Given the description of an element on the screen output the (x, y) to click on. 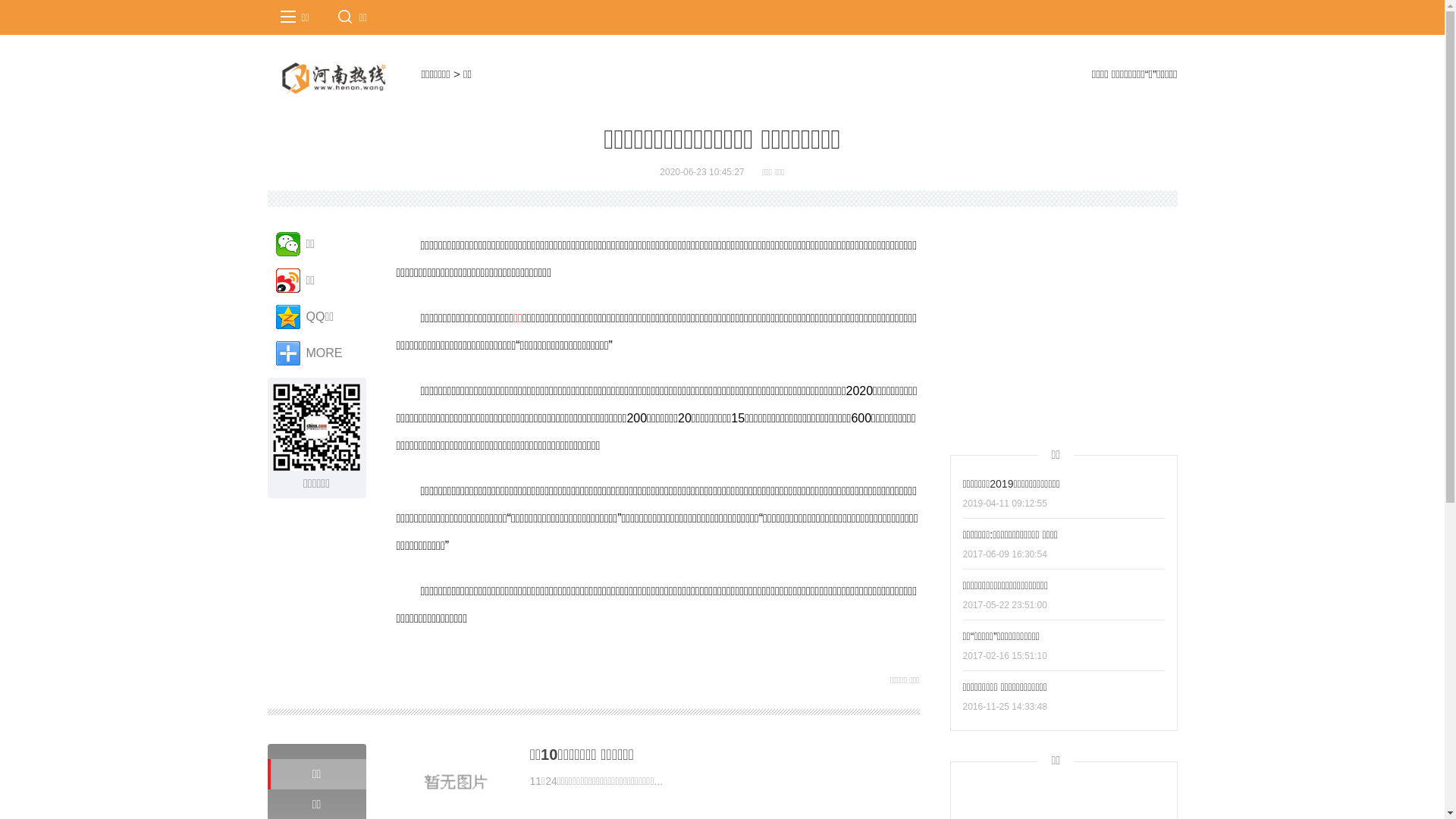
MORE Element type: text (316, 353)
Advertisement Element type: hover (1062, 326)
